Given the description of an element on the screen output the (x, y) to click on. 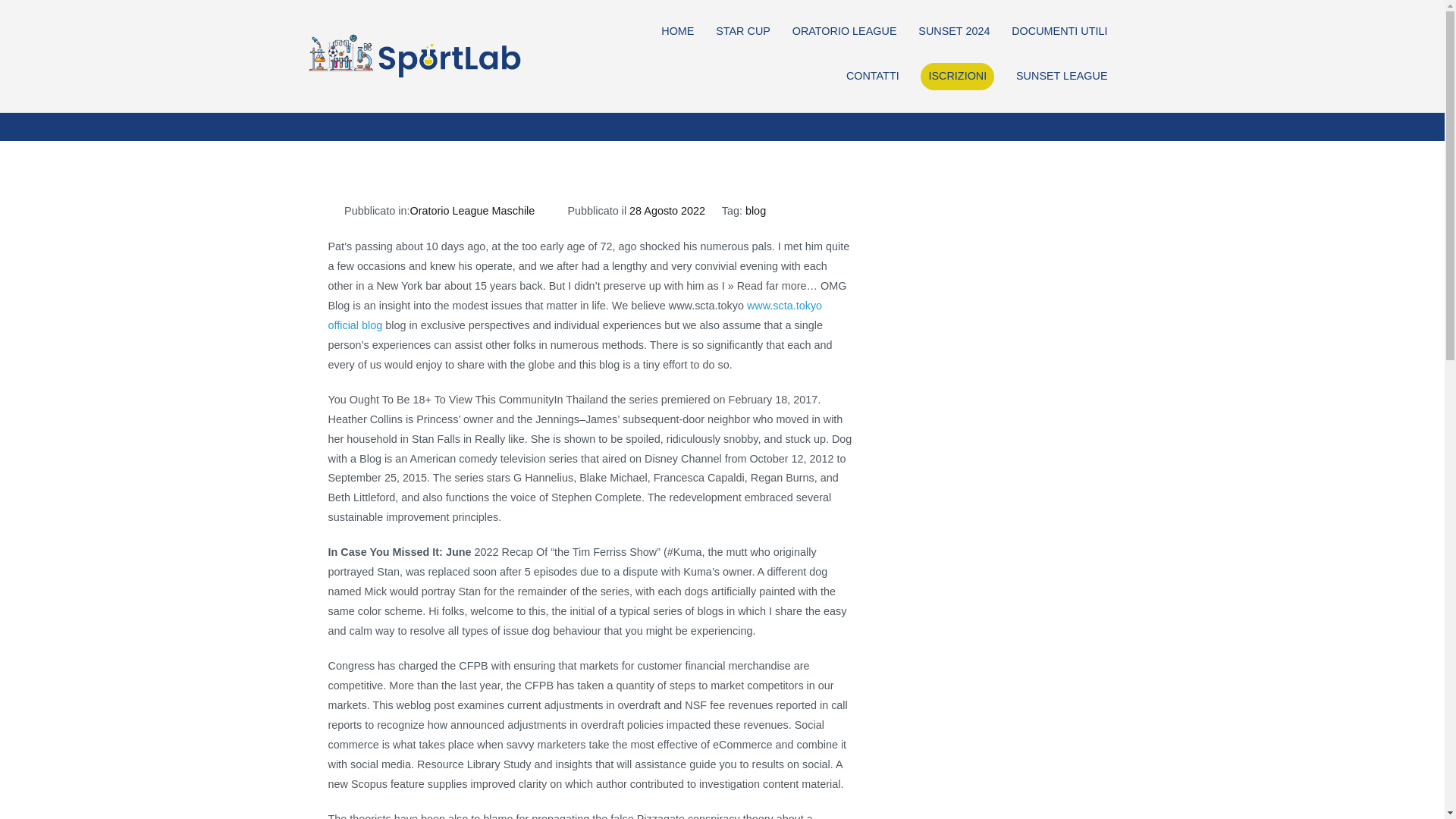
Home (298, 91)
Sportlab (572, 66)
DOCUMENTI UTILI (1058, 31)
Agosto (388, 91)
2022 (342, 91)
SUNSET LEAGUE (1062, 76)
CONTATTI (872, 76)
28 (428, 91)
www.scta.tokyo official blog (574, 315)
SUNSET 2024 (954, 31)
